Given the description of an element on the screen output the (x, y) to click on. 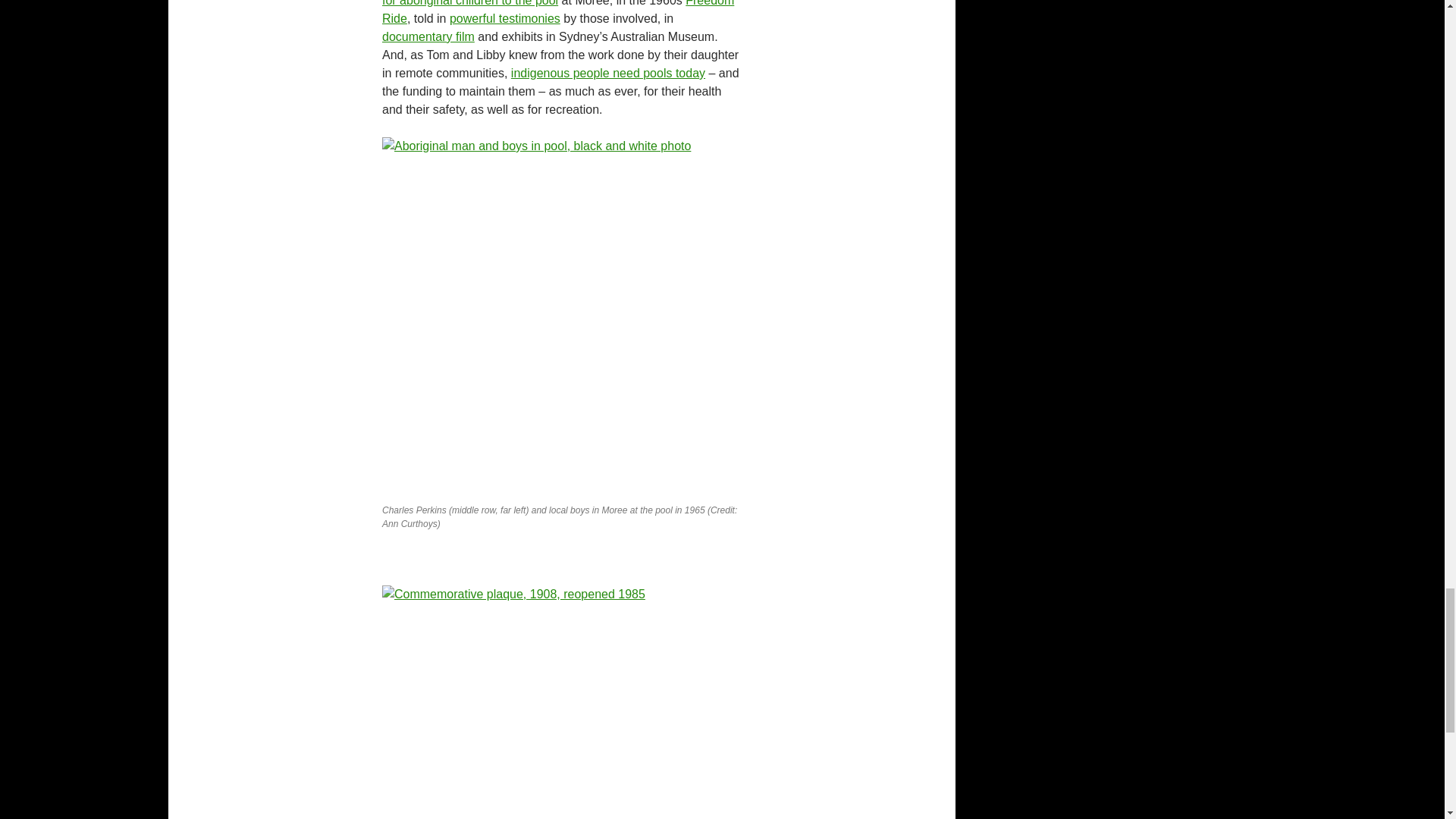
powerful testimonies (504, 18)
indigenous people need pools today (607, 72)
Freedom Ride (557, 12)
the fight to get access for aboriginal children to the pool (558, 3)
documentary film (427, 36)
